Given the description of an element on the screen output the (x, y) to click on. 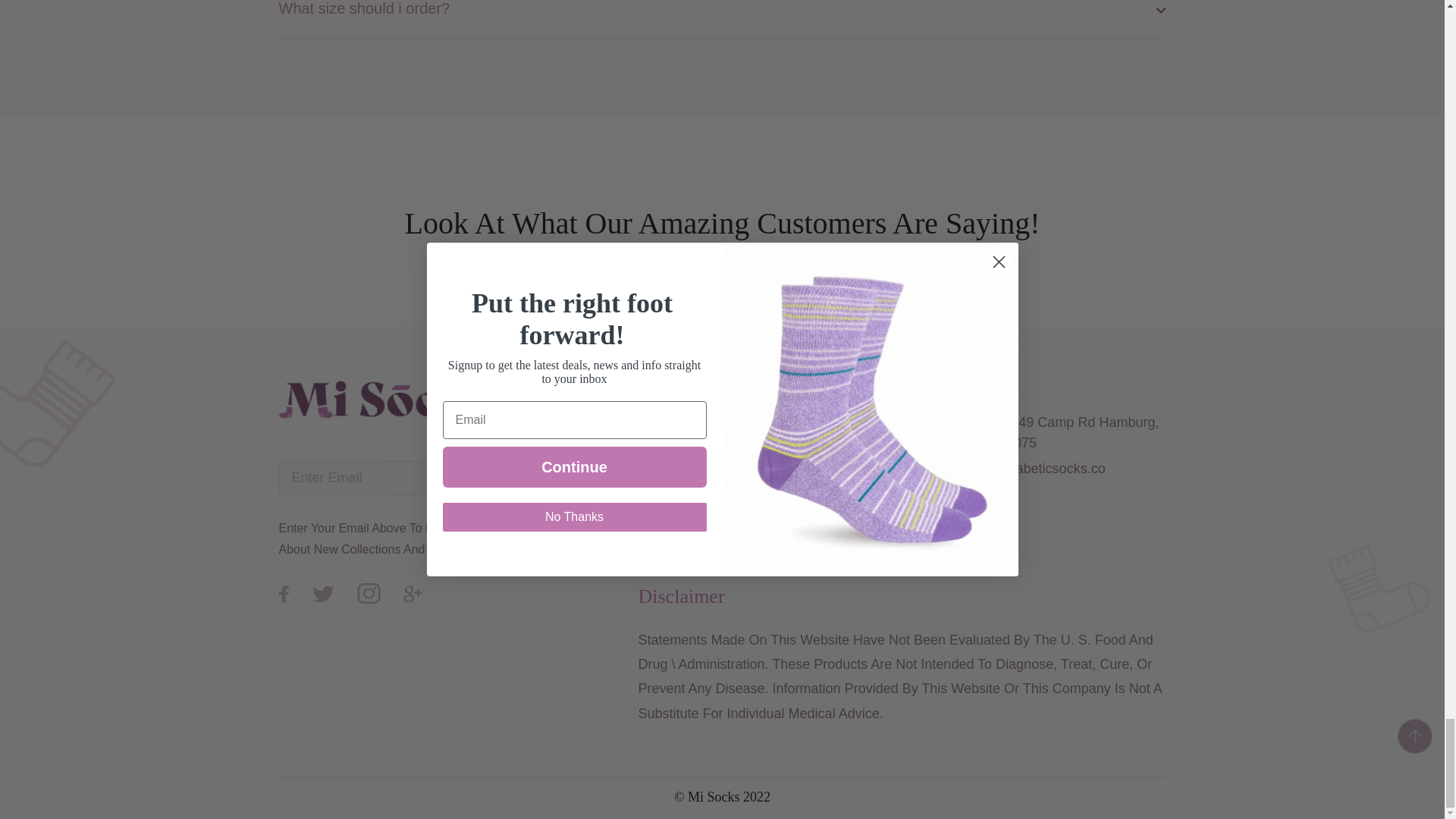
Socks (658, 422)
Send (509, 478)
Terms of Service (820, 459)
Shipping Policy (816, 422)
Contact (663, 459)
Privacy Policy (812, 385)
Home (658, 385)
Mi Socks (713, 797)
